Given the description of an element on the screen output the (x, y) to click on. 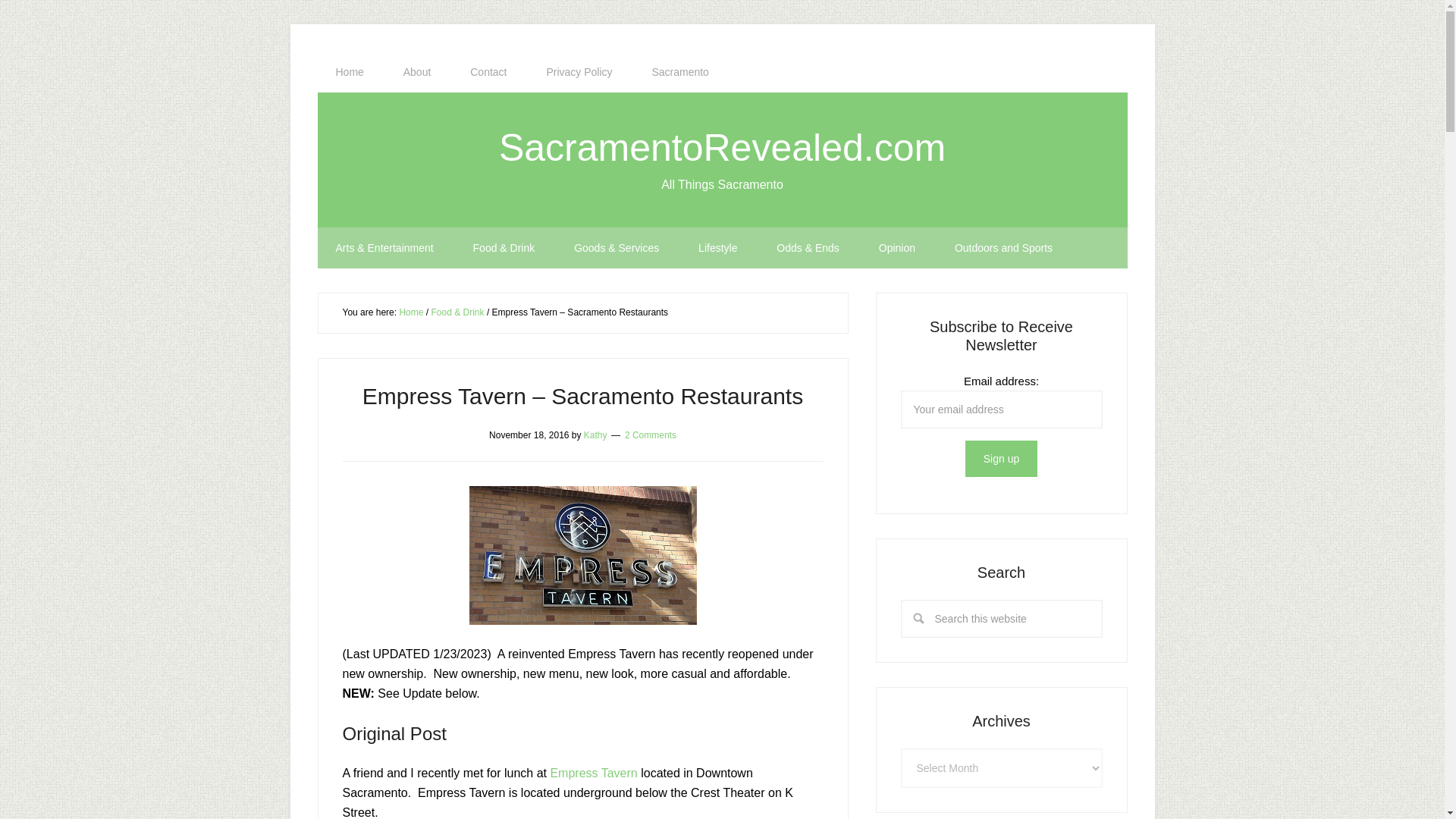
Home (410, 312)
Opinion (896, 247)
About (417, 71)
Lifestyle (717, 247)
Privacy Policy (578, 71)
Outdoors and Sports (1003, 247)
Home (349, 71)
Sign up (1000, 458)
